Given the description of an element on the screen output the (x, y) to click on. 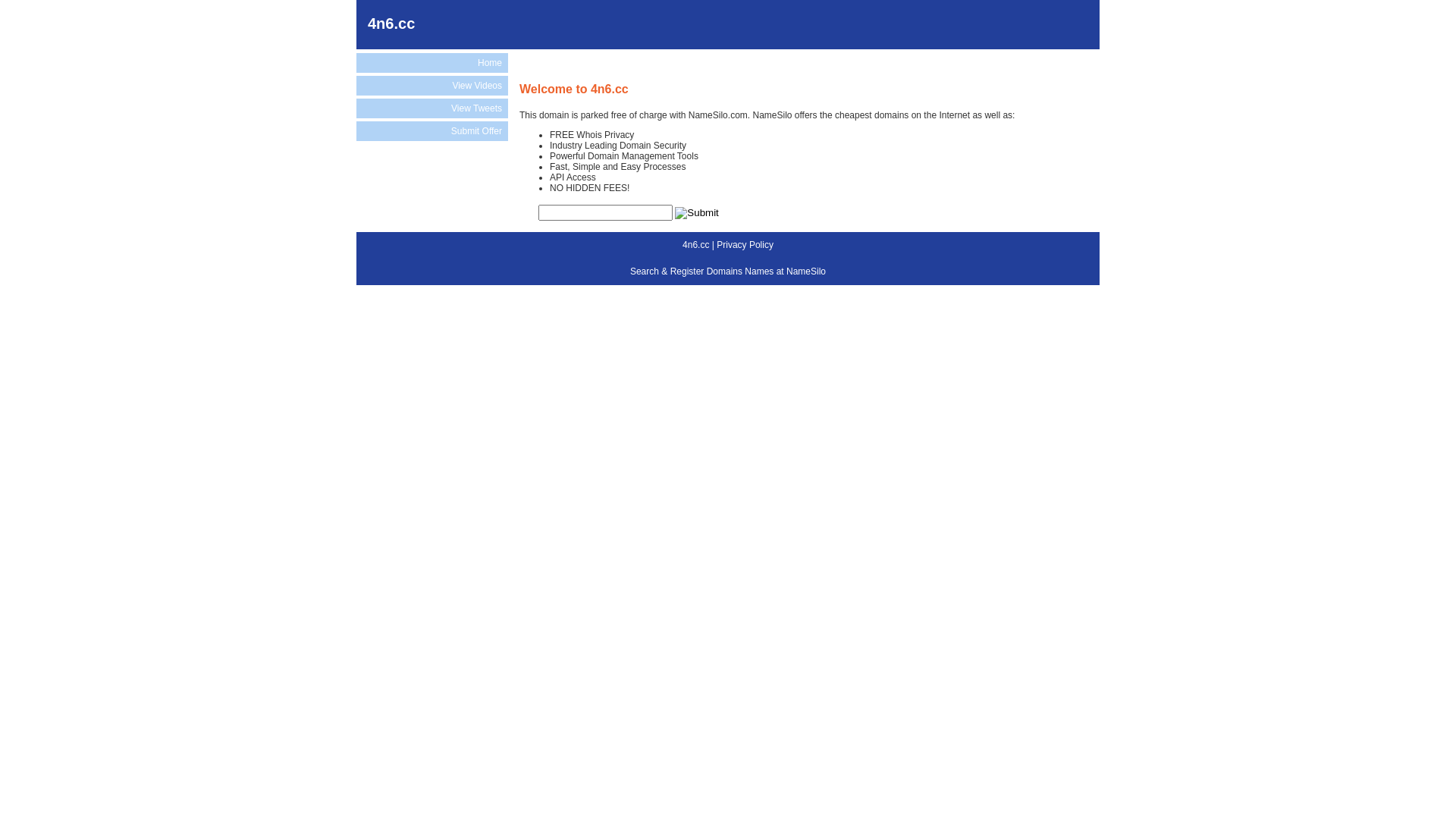
Search & Register Domains Names at NameSilo Element type: text (727, 271)
Privacy Policy Element type: text (744, 244)
View Videos Element type: text (432, 85)
Submit Offer Element type: text (432, 131)
View Tweets Element type: text (432, 108)
Home Element type: text (432, 62)
